Given the description of an element on the screen output the (x, y) to click on. 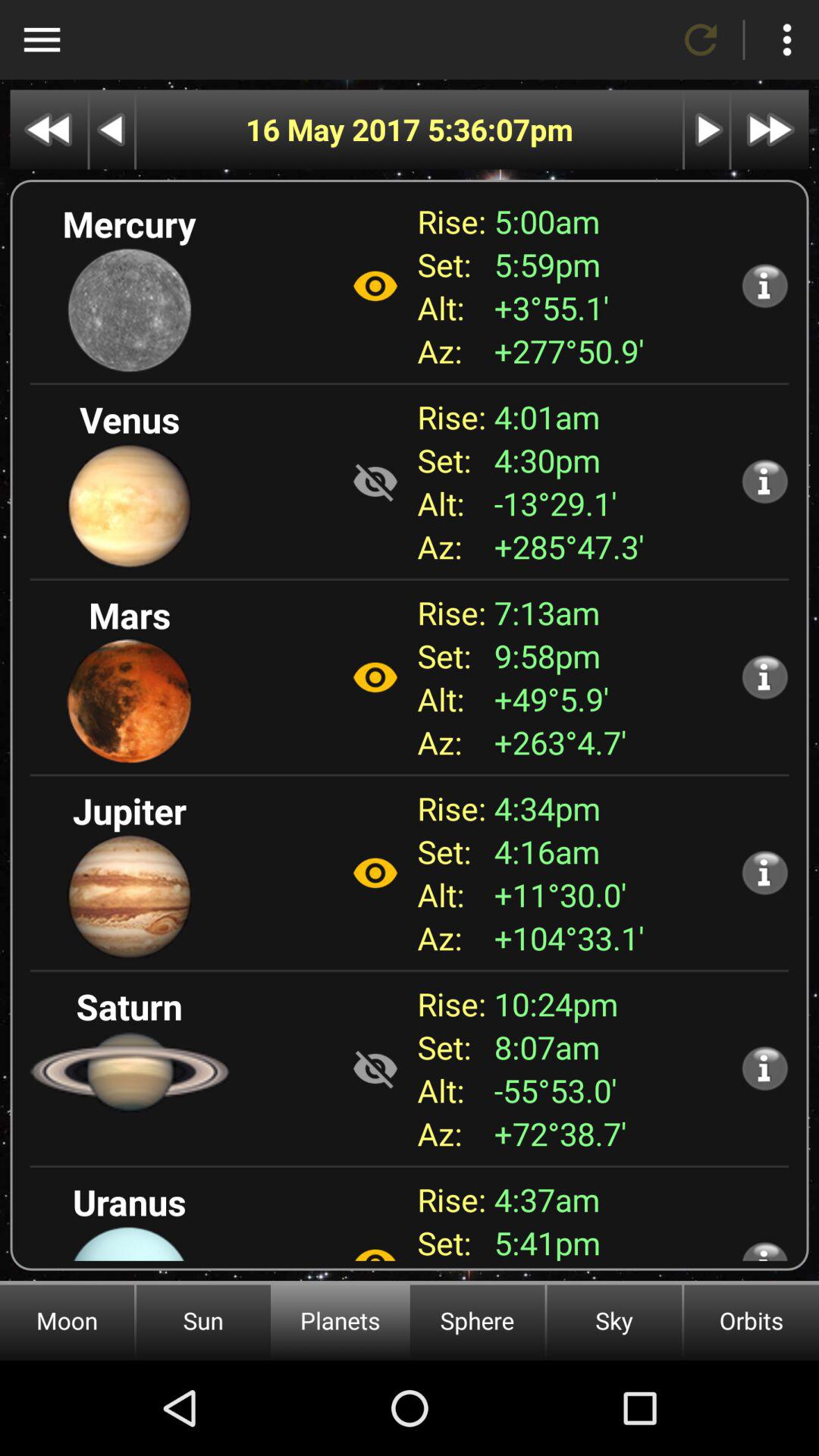
more information (764, 1068)
